Given the description of an element on the screen output the (x, y) to click on. 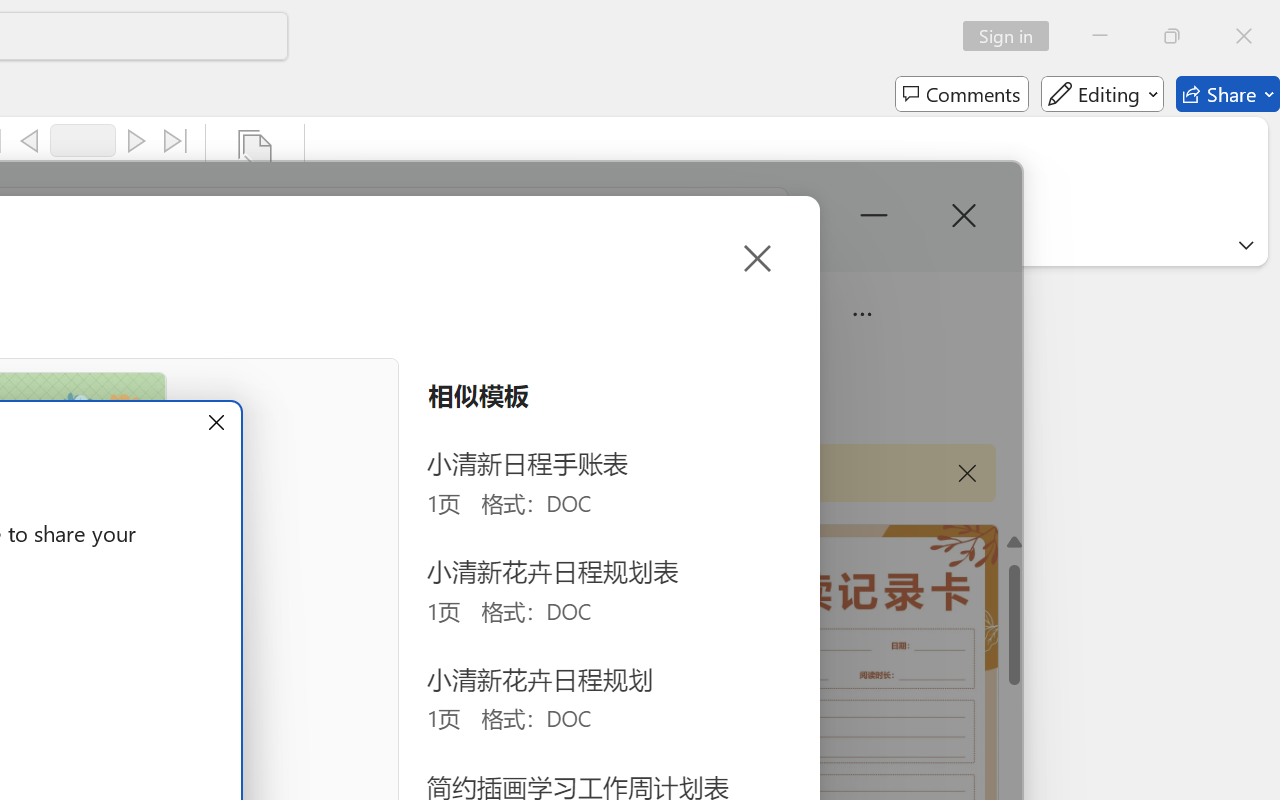
Finish & Merge (255, 179)
Record (83, 140)
Previous (29, 141)
Editing (1101, 94)
Next (136, 141)
Sign in (1012, 35)
Last (175, 141)
